Given the description of an element on the screen output the (x, y) to click on. 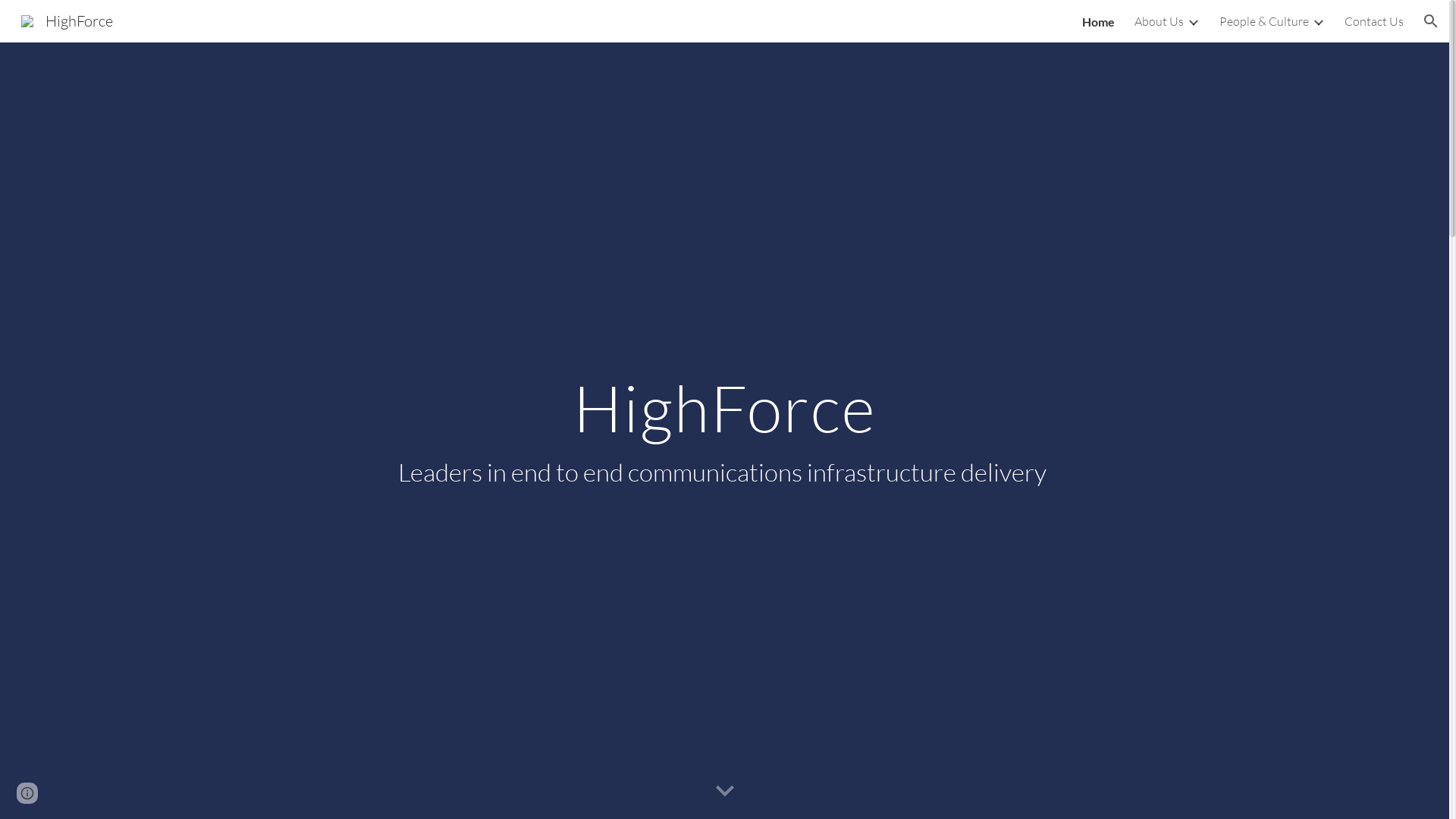
Expand/Collapse Element type: hover (1317, 20)
People & Culture Element type: text (1263, 20)
Expand/Collapse Element type: hover (1192, 20)
About Us Element type: text (1158, 20)
Home Element type: text (1098, 20)
HighForce Element type: text (67, 18)
Contact Us Element type: text (1373, 20)
